Given the description of an element on the screen output the (x, y) to click on. 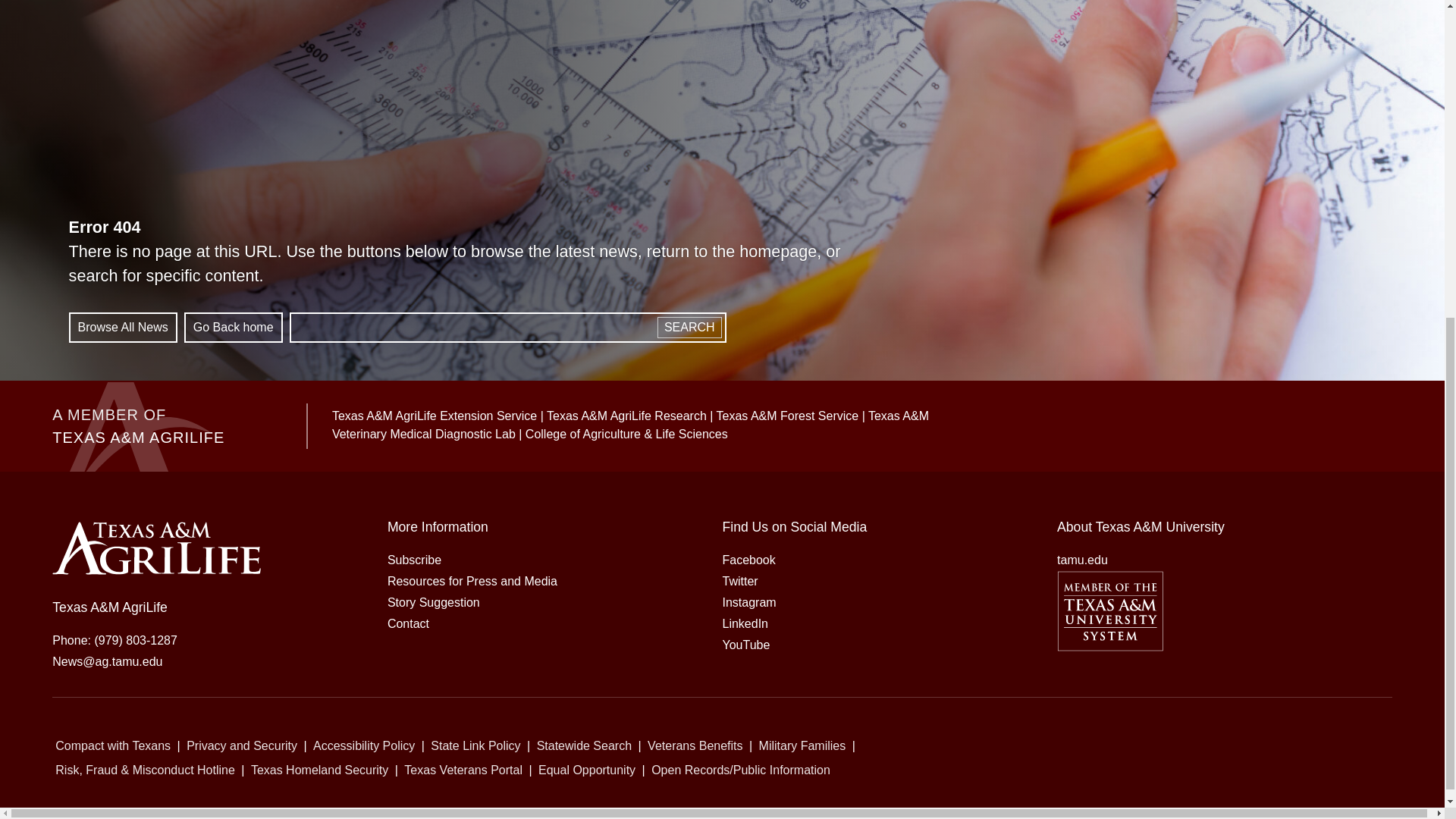
Instagram (749, 602)
Compact with Texans (112, 745)
Story Suggestion (433, 602)
LinkedIn (745, 623)
Go Back home (233, 327)
YouTube (746, 644)
Privacy and Security (241, 745)
Contact (408, 623)
State Link Policy (474, 745)
tamu.edu (1082, 559)
